Given the description of an element on the screen output the (x, y) to click on. 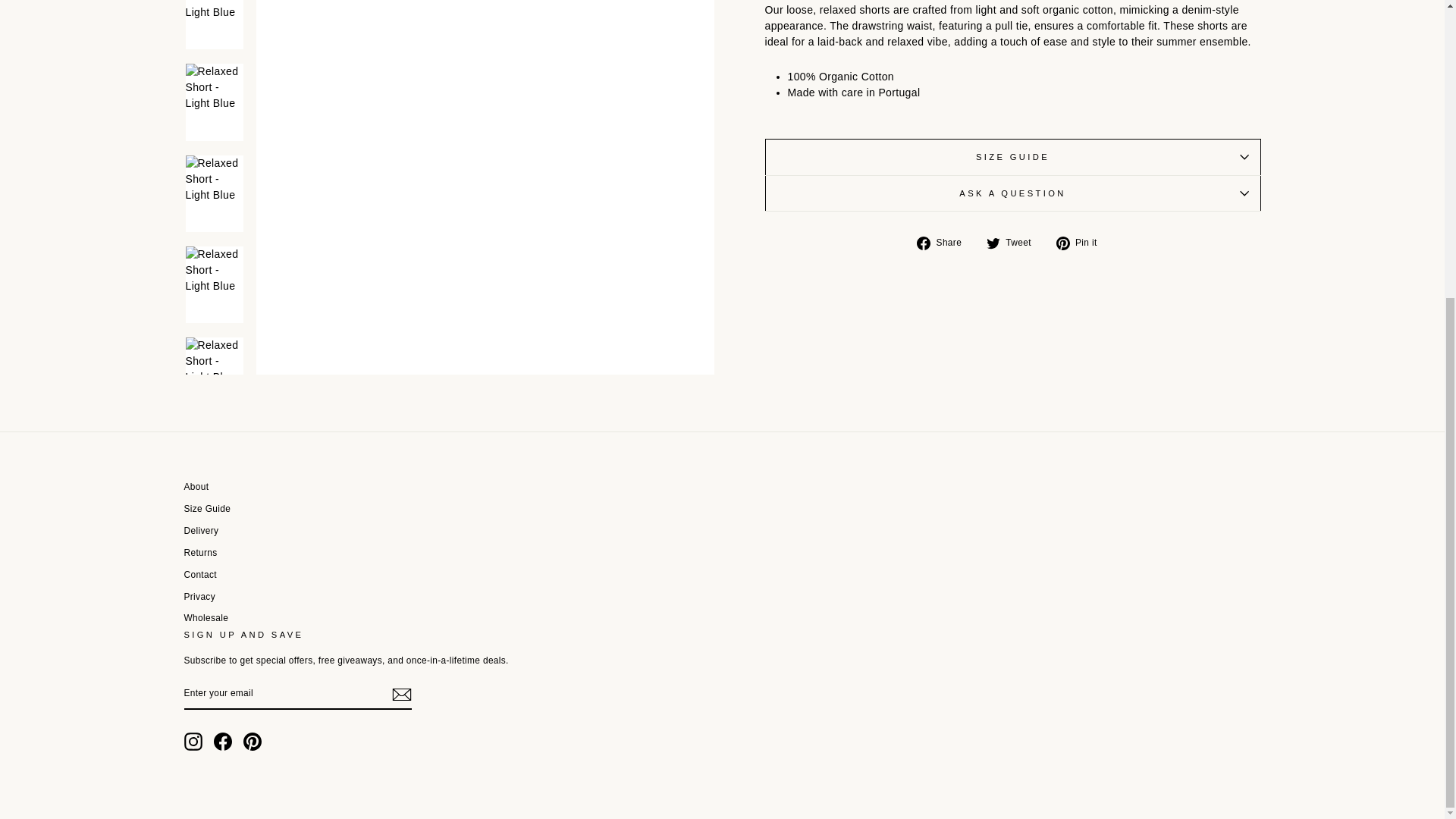
main story on Pinterest (251, 741)
Pin on Pinterest (1082, 242)
Share on Facebook (944, 242)
instagram (192, 741)
twitter (993, 243)
main story on Instagram (192, 741)
Tweet on Twitter (1014, 242)
main story on Facebook (222, 741)
icon-email (400, 694)
